Given the description of an element on the screen output the (x, y) to click on. 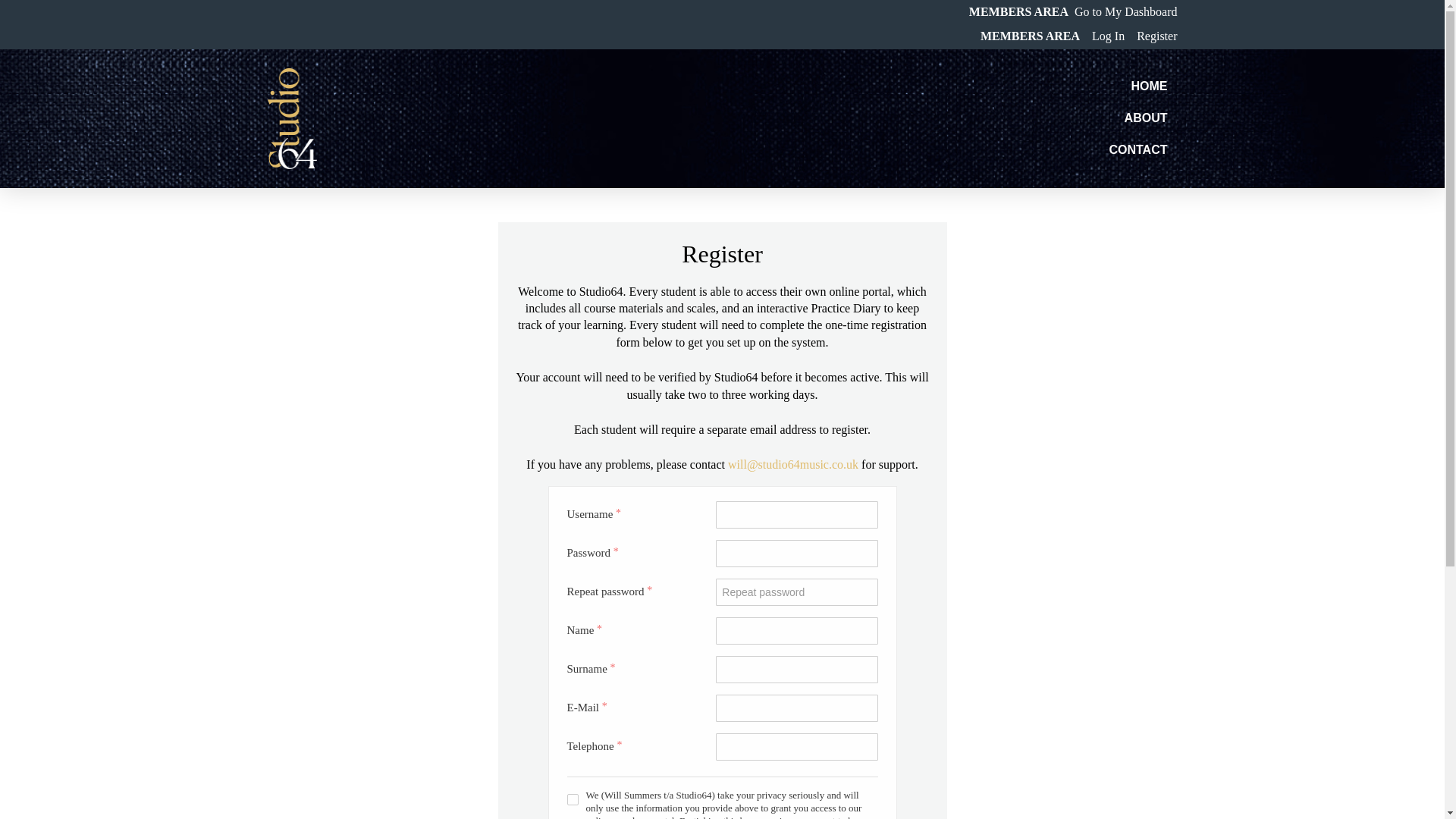
Register (1156, 35)
Log In (1108, 35)
Go to My Dashboard (1125, 11)
ABOUT (1146, 118)
HOME (1148, 86)
CONTACT (1137, 150)
